Given the description of an element on the screen output the (x, y) to click on. 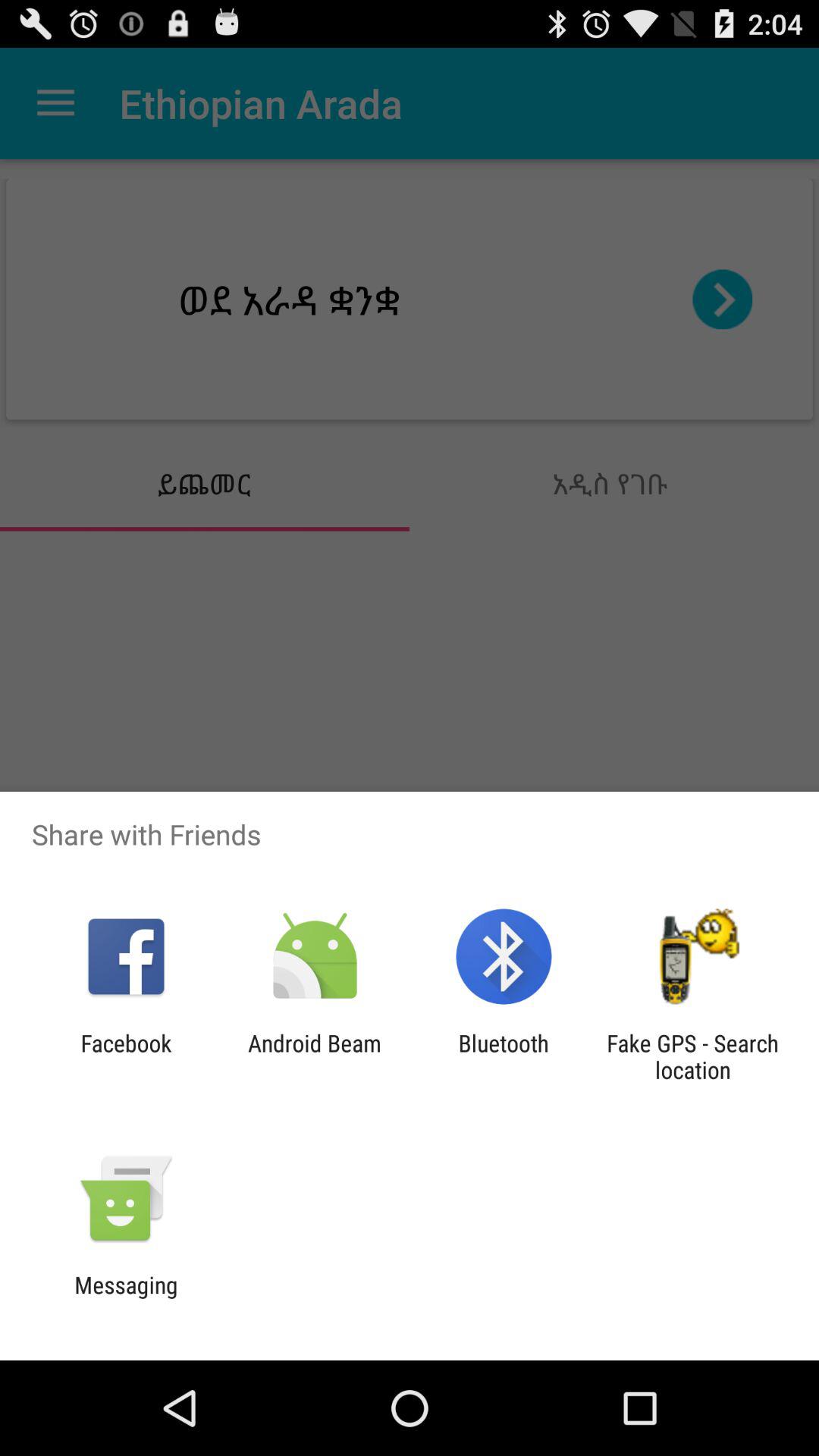
select the app to the right of the android beam icon (503, 1056)
